Given the description of an element on the screen output the (x, y) to click on. 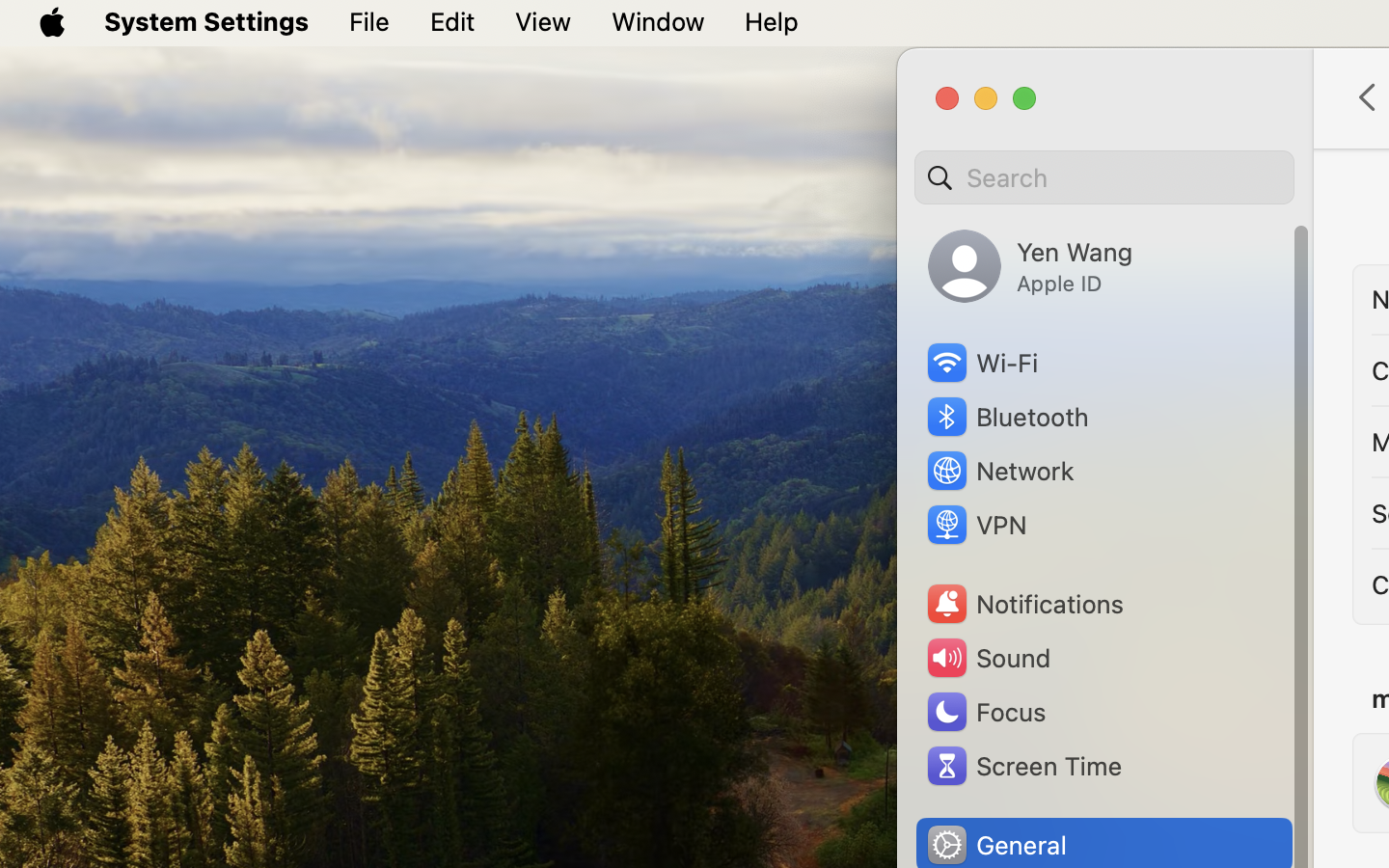
Bluetooth Element type: AXStaticText (1006, 416)
Network Element type: AXStaticText (999, 470)
General Element type: AXStaticText (995, 844)
Yen Wang, Apple ID Element type: AXStaticText (1029, 265)
Notifications Element type: AXStaticText (1024, 603)
